Given the description of an element on the screen output the (x, y) to click on. 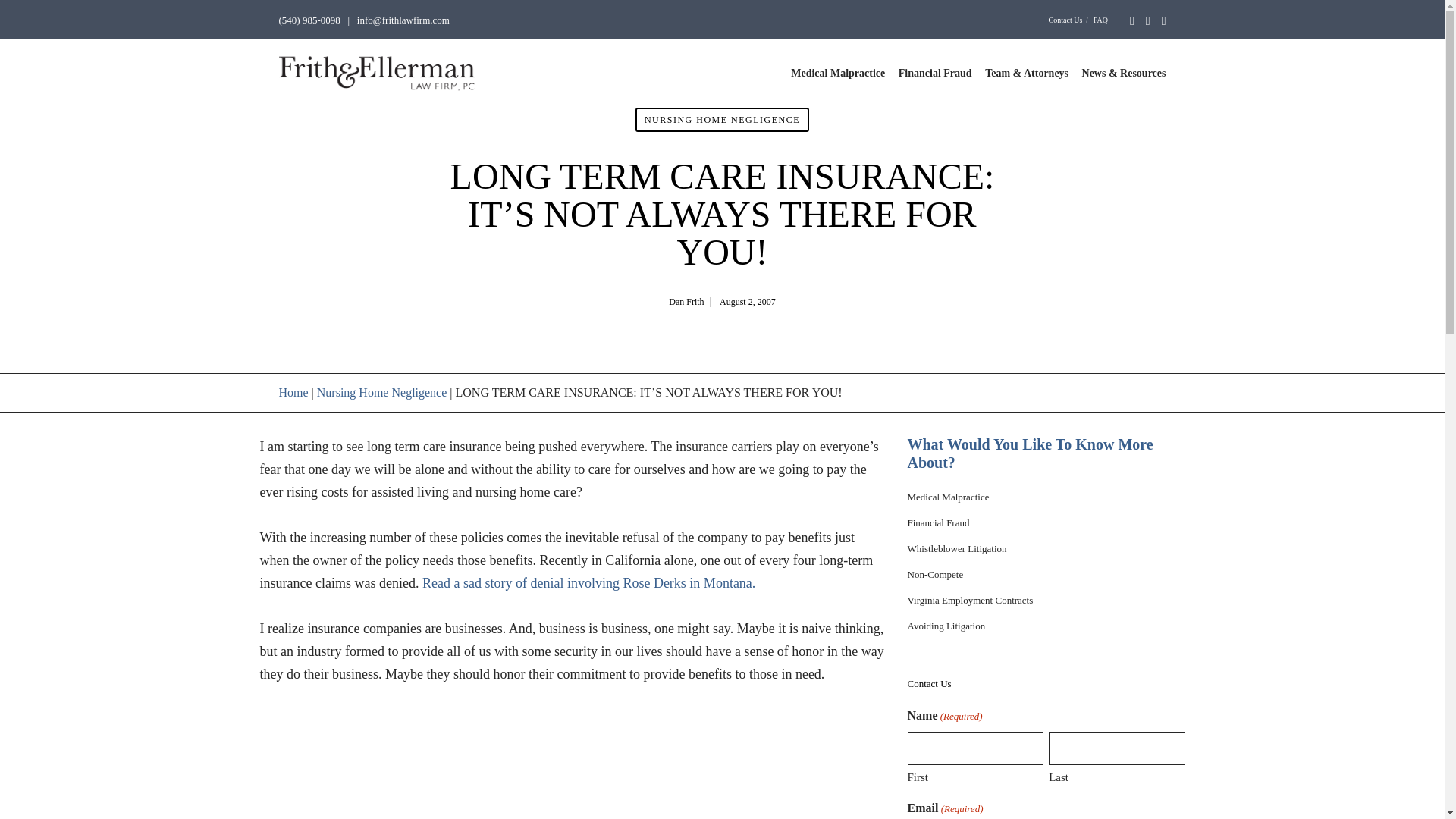
Contact Us (1065, 19)
Whistleblower Litigation (956, 548)
Read a sad story of denial involving Rose Derks in Montana. (588, 582)
NURSING HOME NEGLIGENCE (721, 119)
Financial Fraud (938, 522)
Avoiding Litigation (946, 625)
Medical Malpractice (837, 73)
FAQ (1100, 19)
Home (293, 391)
Virginia Employment Contracts (969, 600)
